Given the description of an element on the screen output the (x, y) to click on. 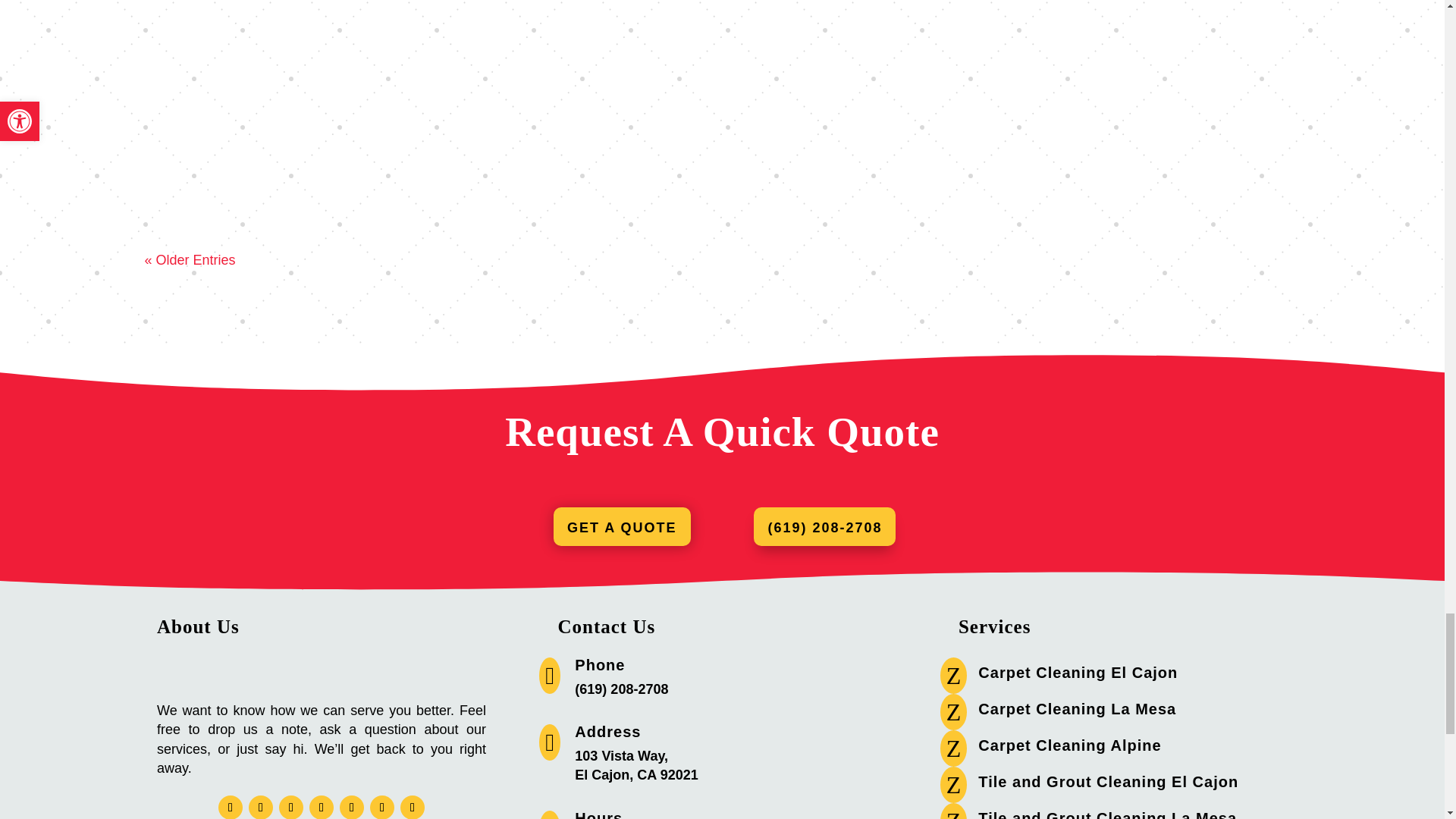
Follow on LinkedIn (320, 807)
Follow on Yelp (351, 807)
Follow on Instagram (290, 807)
Follow on X (260, 807)
Follow on Youtube (412, 807)
Follow on Facebook (230, 807)
Follow on Pinterest (381, 807)
